Given the description of an element on the screen output the (x, y) to click on. 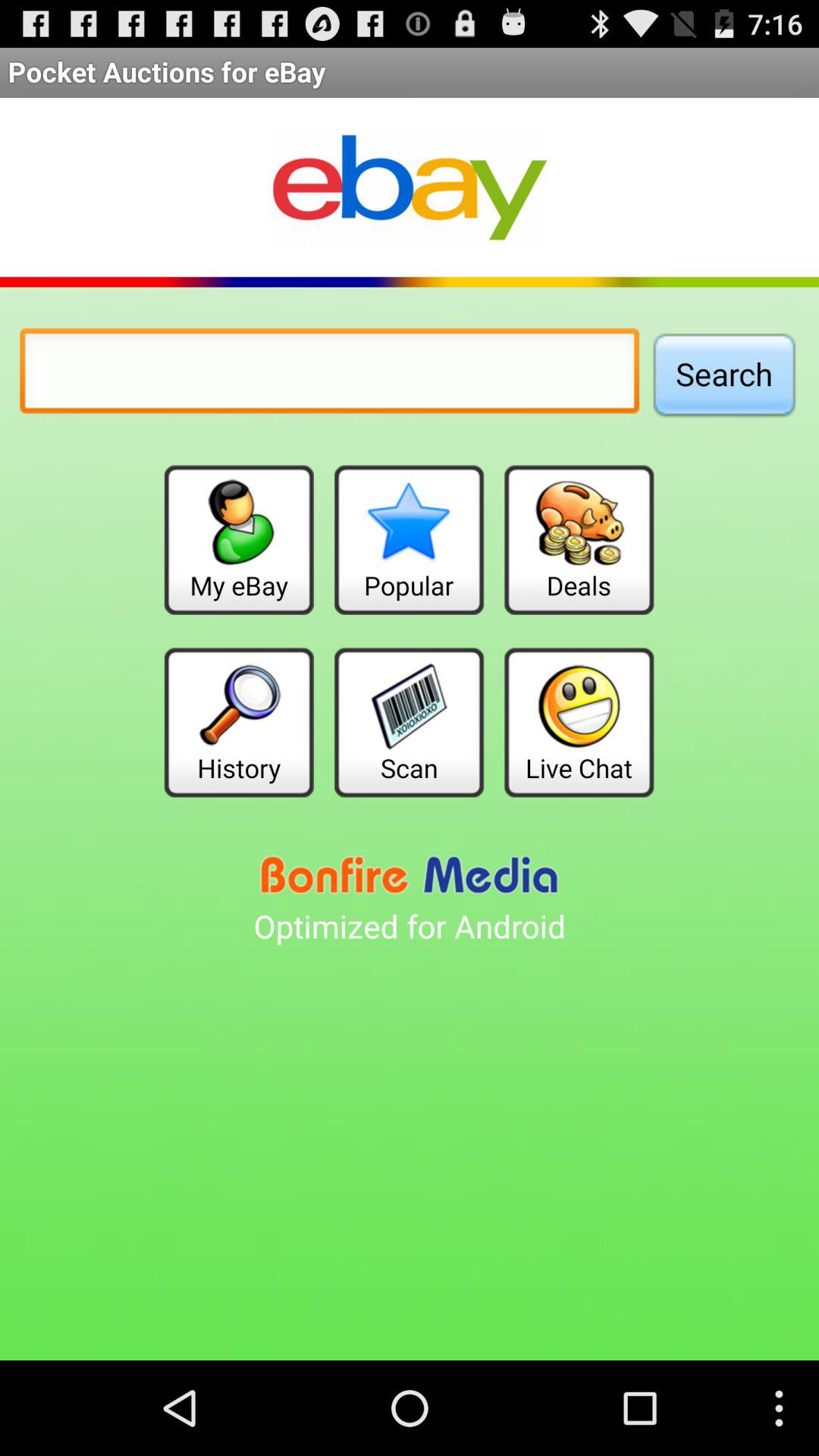
open the item next to the popular button (238, 539)
